Given the description of an element on the screen output the (x, y) to click on. 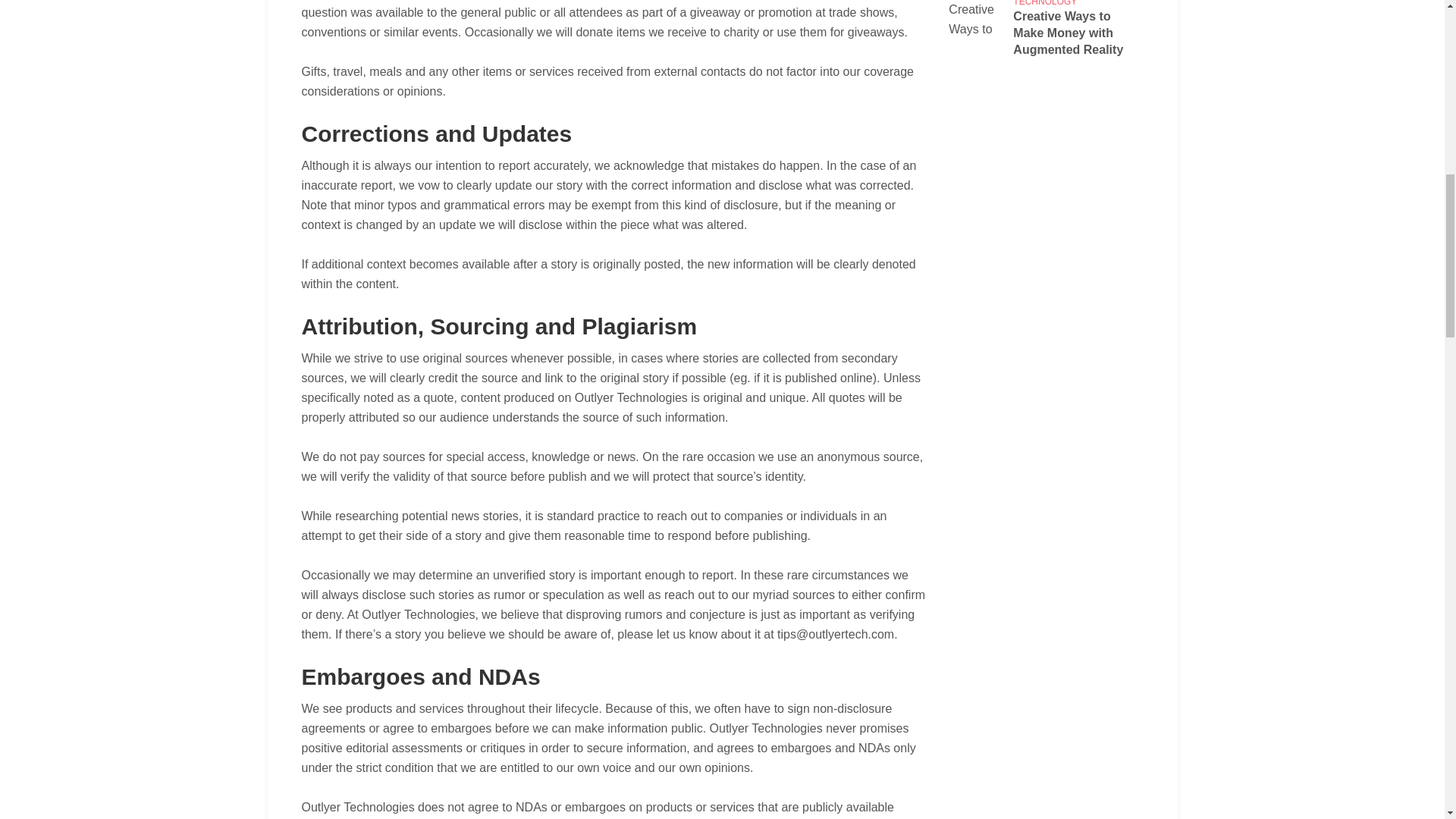
Creative Ways to Make Money with Augmented Reality (1077, 33)
VIRTUAL REALITY TECHNOLOGY (1051, 3)
